Given the description of an element on the screen output the (x, y) to click on. 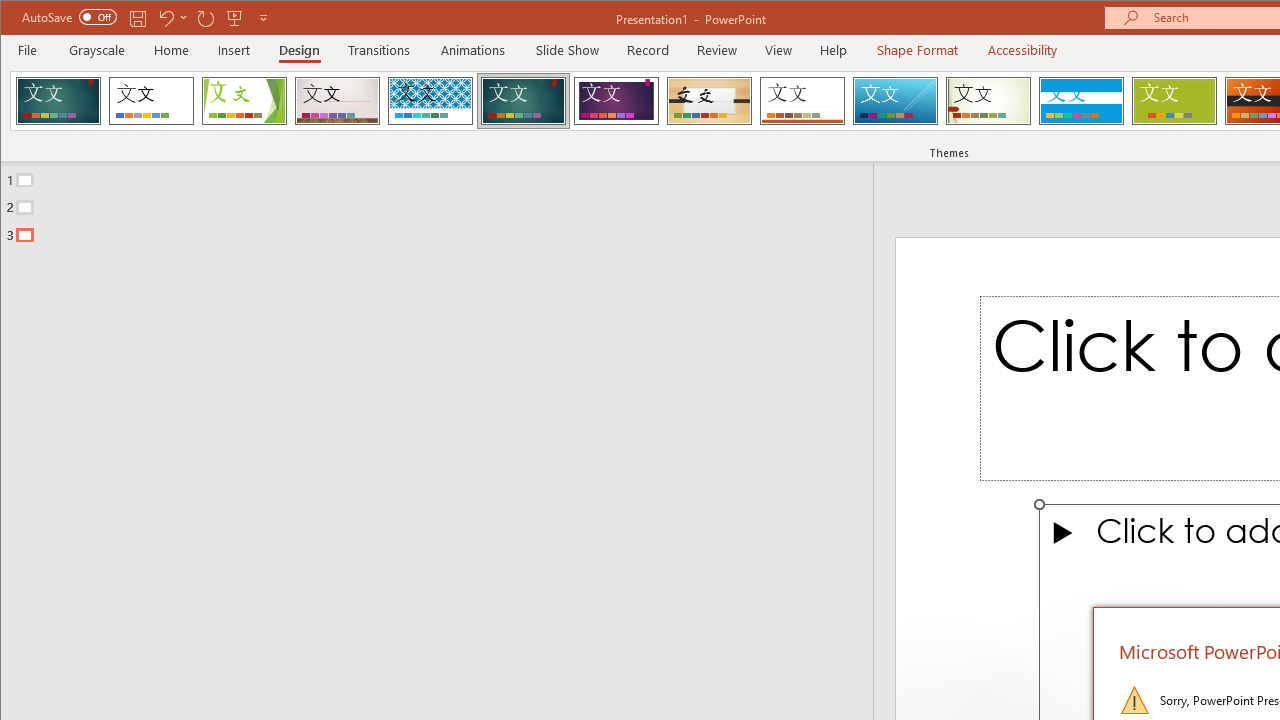
Banded (1081, 100)
Facet (244, 100)
Ion Boardroom (616, 100)
Shape Format (916, 50)
Outline (445, 203)
Wisp (988, 100)
Warning Icon (1134, 699)
Office Theme (151, 100)
